Given the description of an element on the screen output the (x, y) to click on. 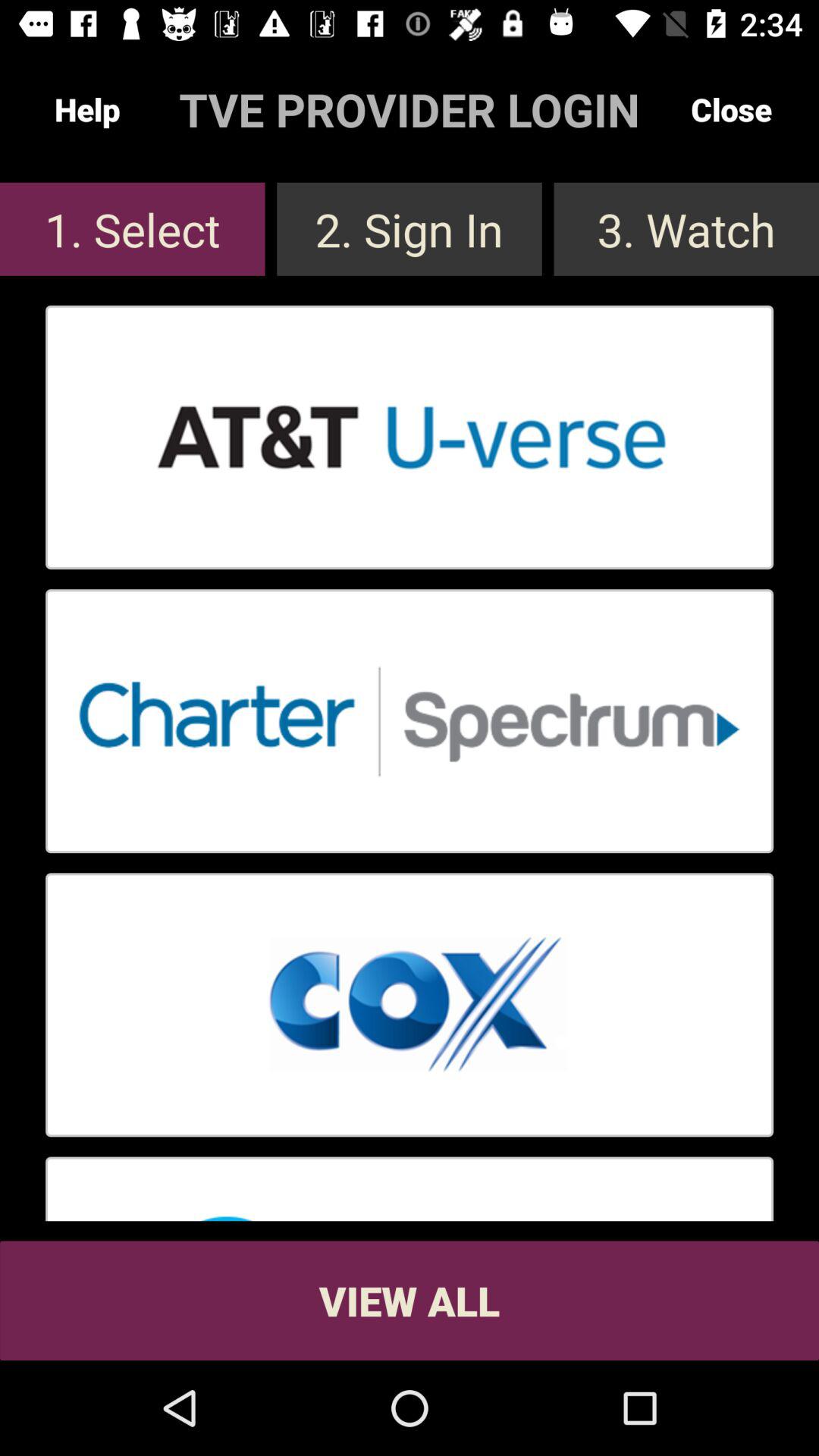
swipe until the help button (87, 108)
